Given the description of an element on the screen output the (x, y) to click on. 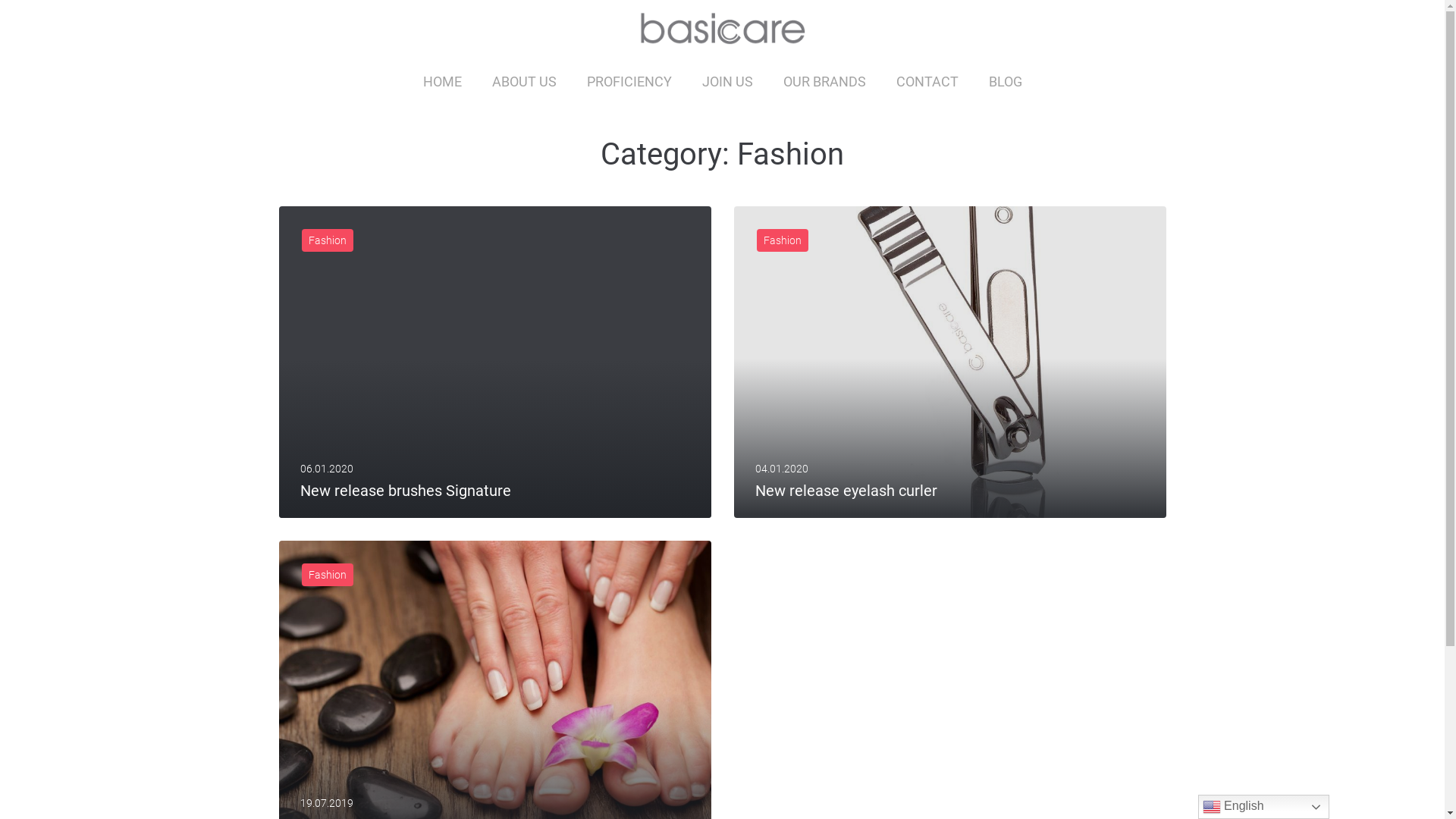
New release eyelash curler Element type: text (846, 490)
CONTACT Element type: text (927, 81)
BLOG Element type: text (1005, 81)
HOME Element type: text (441, 81)
OUR BRANDS Element type: text (823, 81)
Fashion Element type: text (327, 574)
Fashion Element type: text (782, 240)
ABOUT US Element type: text (523, 81)
Fashion Element type: text (327, 240)
JOIN US Element type: text (727, 81)
New release brushes Signature Element type: text (405, 490)
PROFICIENCY Element type: text (629, 81)
